Given the description of an element on the screen output the (x, y) to click on. 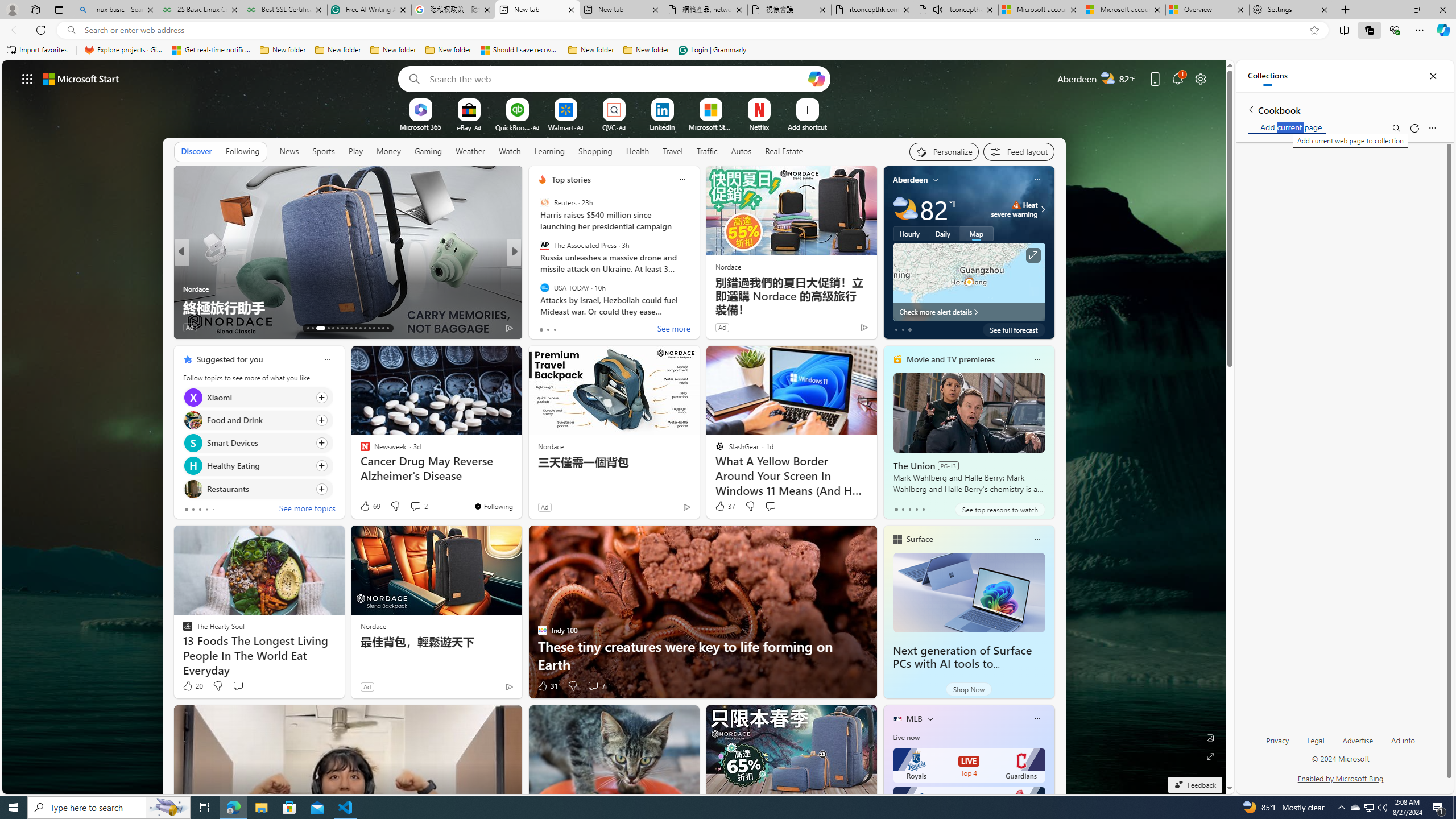
Add a site (807, 126)
AutomationID: tab-29 (387, 328)
Worthly (537, 270)
View comments 67 Comment (592, 327)
Newsweek (537, 270)
